Given the description of an element on the screen output the (x, y) to click on. 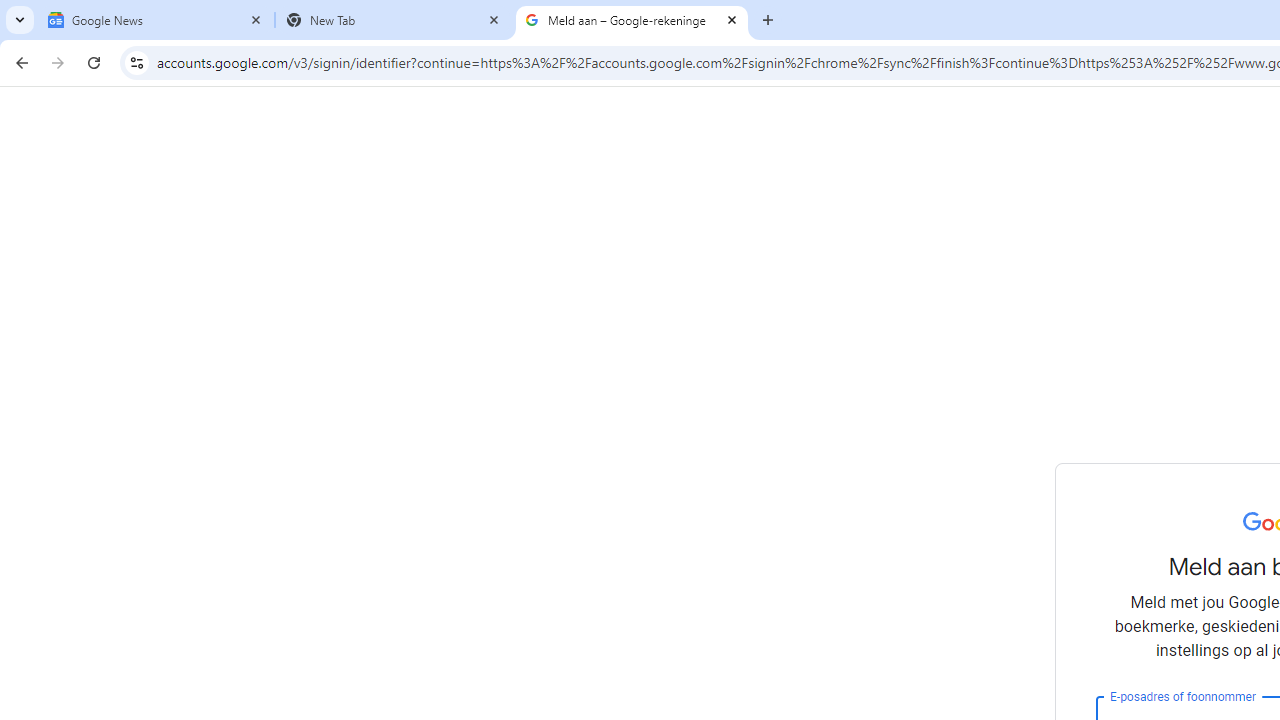
New Tab (394, 20)
Google News (156, 20)
